Given the description of an element on the screen output the (x, y) to click on. 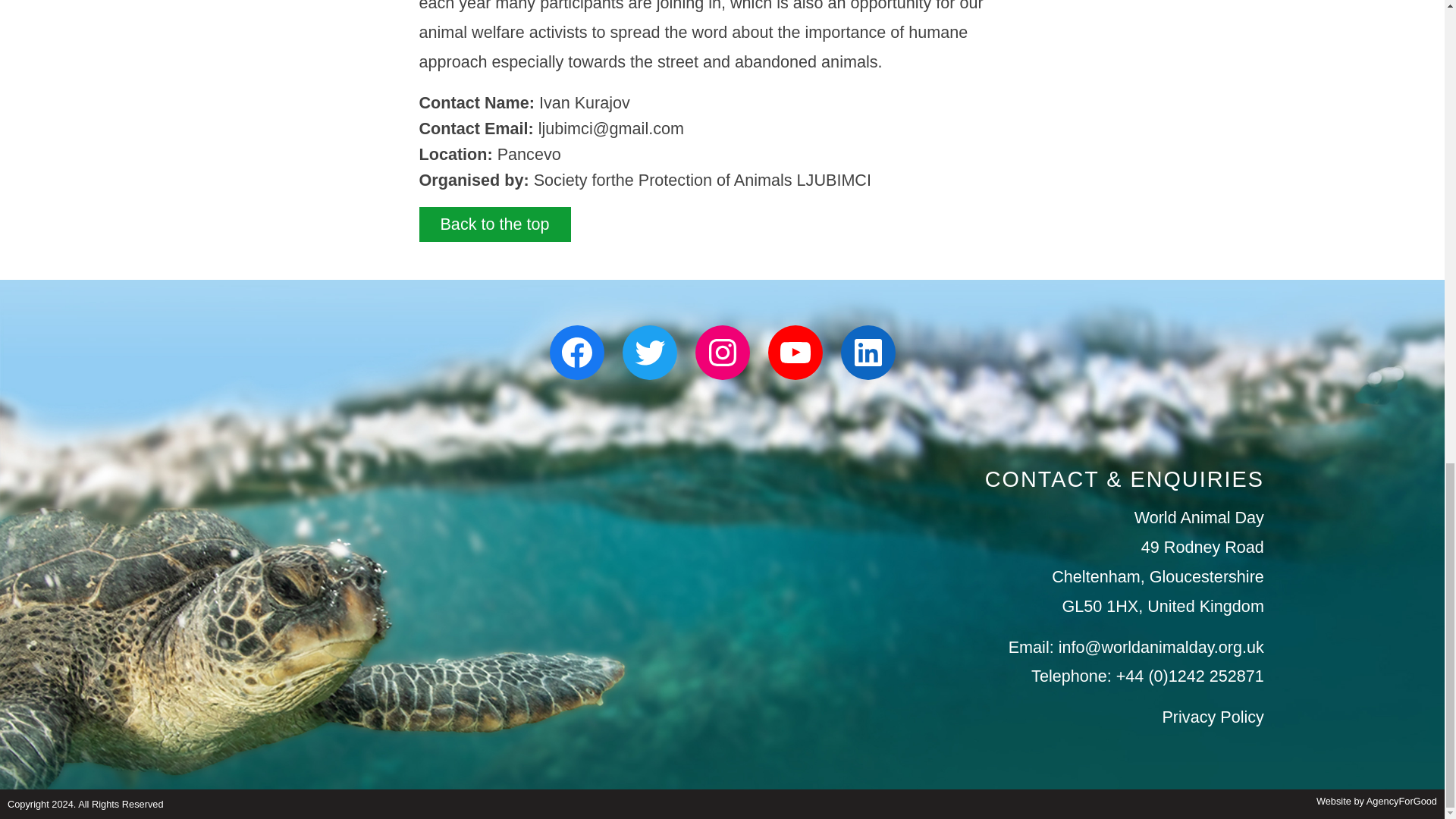
Privacy Policy (1212, 716)
LinkedIn (867, 352)
Instagram (721, 352)
Website by AgencyForGood (1376, 800)
YouTube (794, 352)
Back to the top (494, 224)
Twitter (649, 352)
Charity Web Design (1376, 800)
Facebook (576, 352)
